Given the description of an element on the screen output the (x, y) to click on. 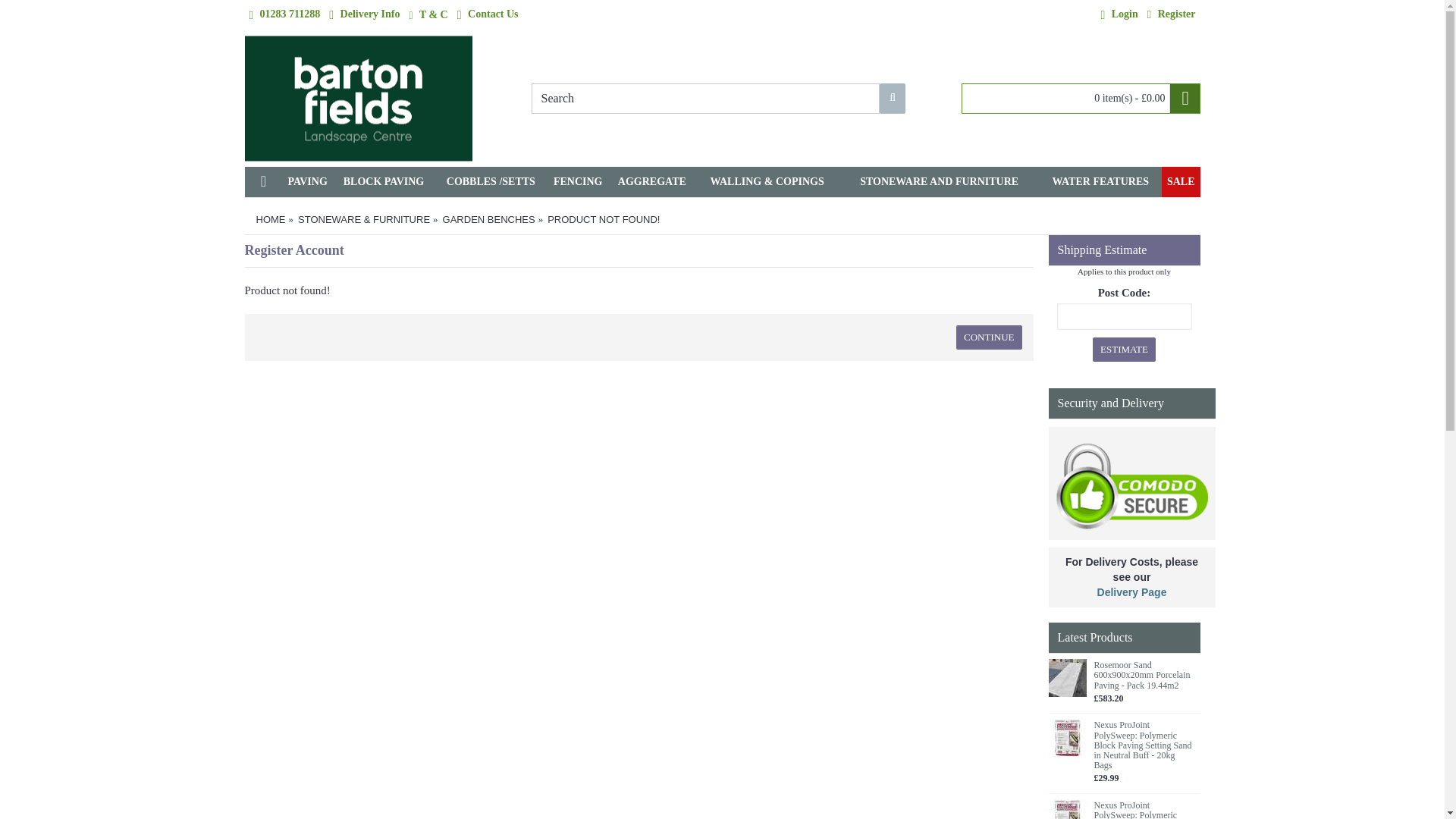
01283 711288 (284, 15)
Login (1118, 15)
AGGREGATE (651, 182)
STONEWARE AND FURNITURE (939, 182)
FENCING (577, 182)
WATER FEATURES (1100, 182)
Barton Fields Landscape Centre (357, 98)
Contact Us (487, 15)
PAVING (306, 182)
BLOCK PAVING (384, 182)
Register (1170, 15)
Delivery Info (364, 15)
Rosemoor Sand 600x900x20mm Porcelain Paving  - Pack 19.44m2 (1067, 677)
